Given the description of an element on the screen output the (x, y) to click on. 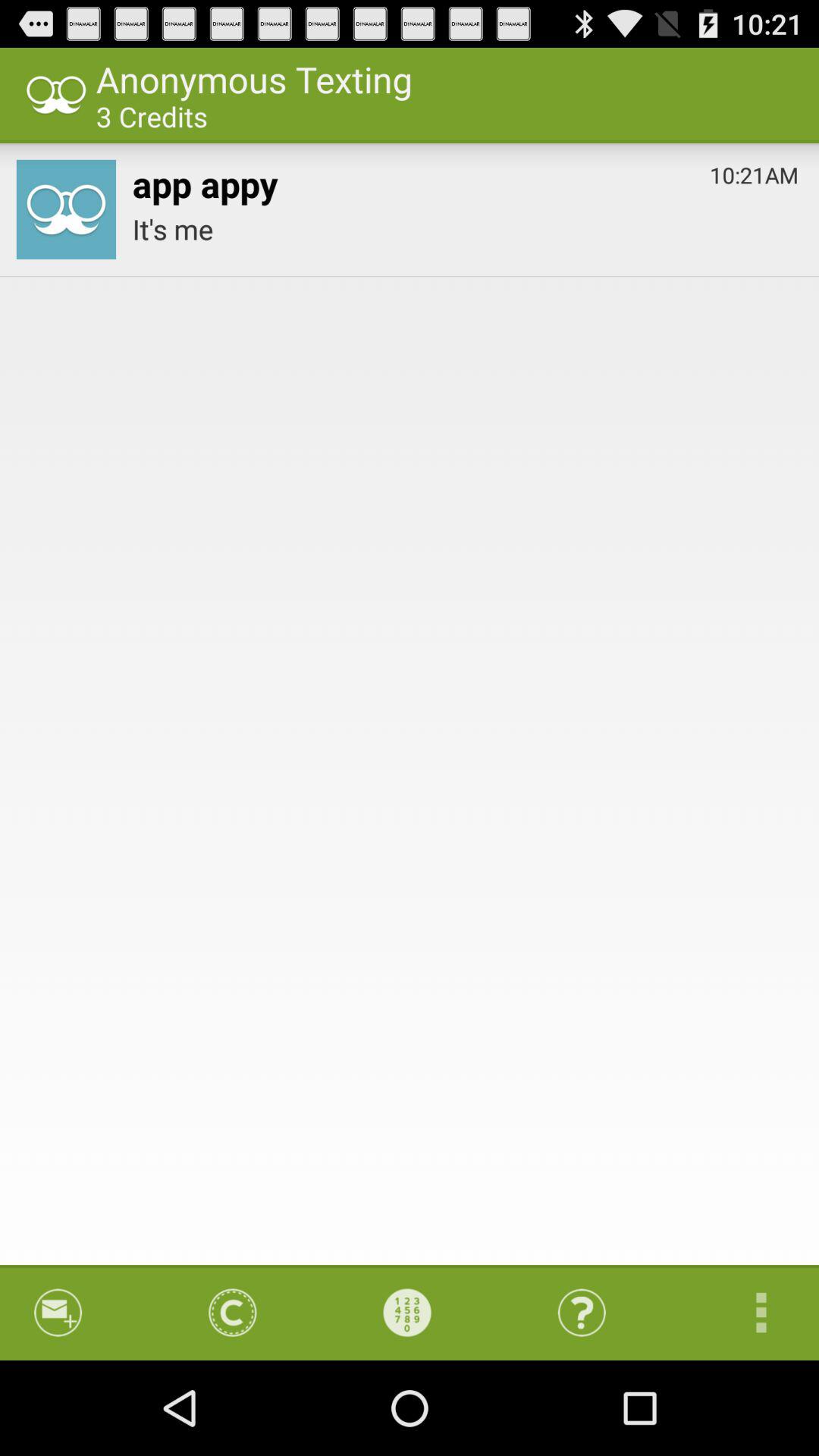
choose the app below the app appy item (465, 228)
